Given the description of an element on the screen output the (x, y) to click on. 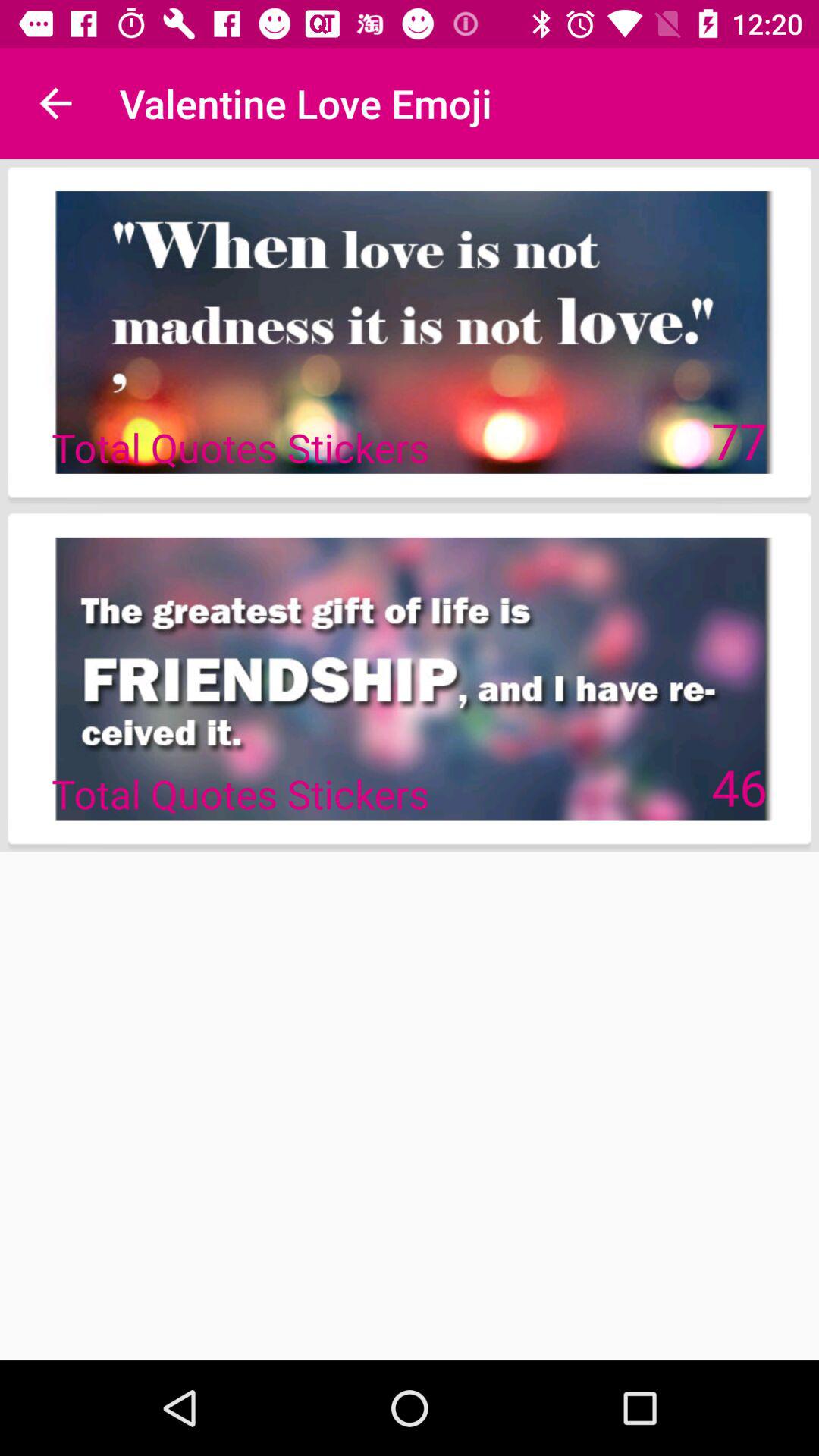
select item next to total quotes stickers item (739, 440)
